Given the description of an element on the screen output the (x, y) to click on. 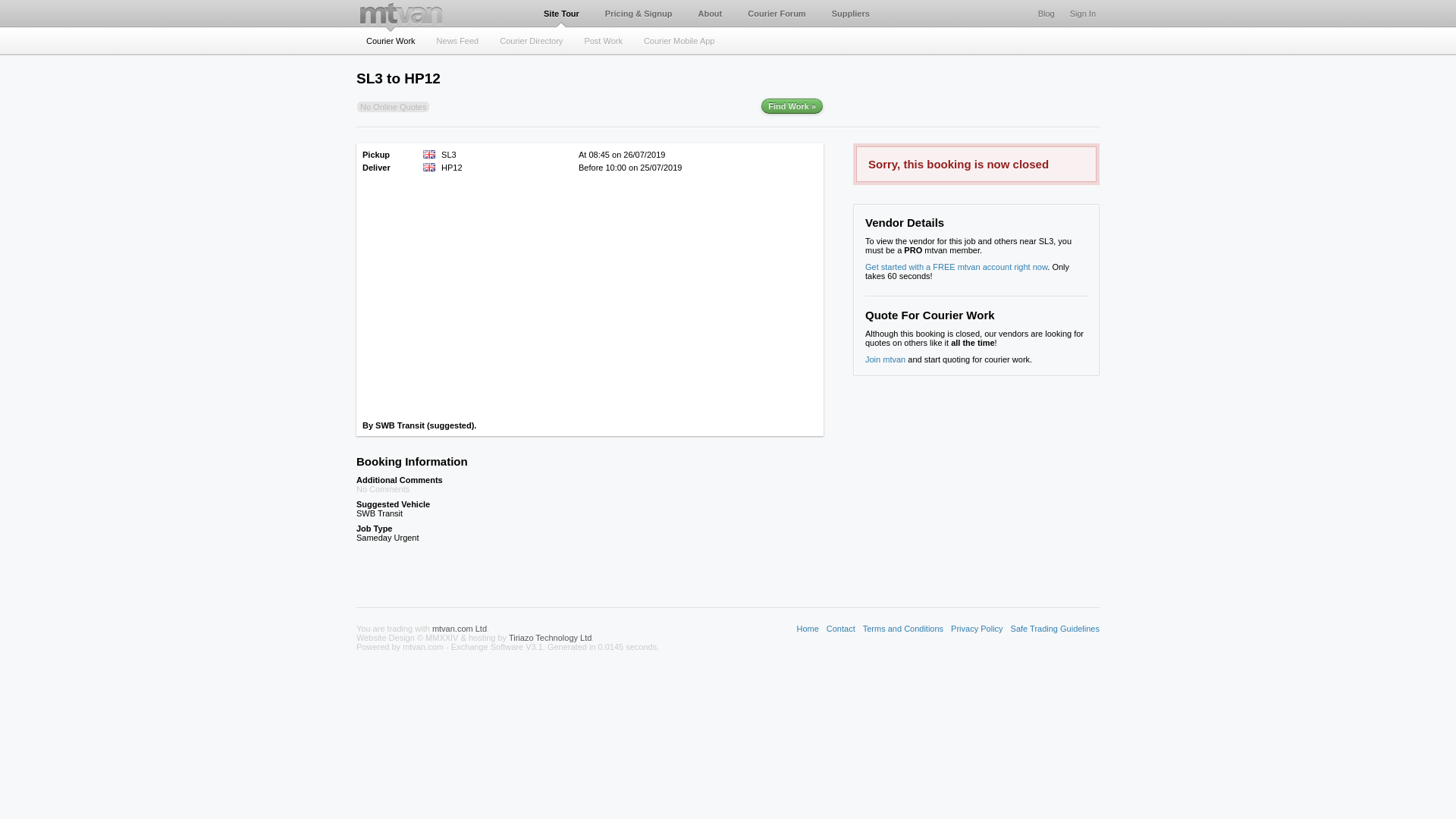
Permalink to our privacy policy (976, 628)
Get started with a FREE mtvan account right now (955, 266)
About (709, 18)
Permalink to news feed information (457, 37)
Permalink to pricing page (638, 18)
Courier Mobile App (678, 37)
Privacy Policy (976, 628)
Permalink to courier forum (776, 18)
Sign In (1083, 18)
Courier Work (390, 37)
